Given the description of an element on the screen output the (x, y) to click on. 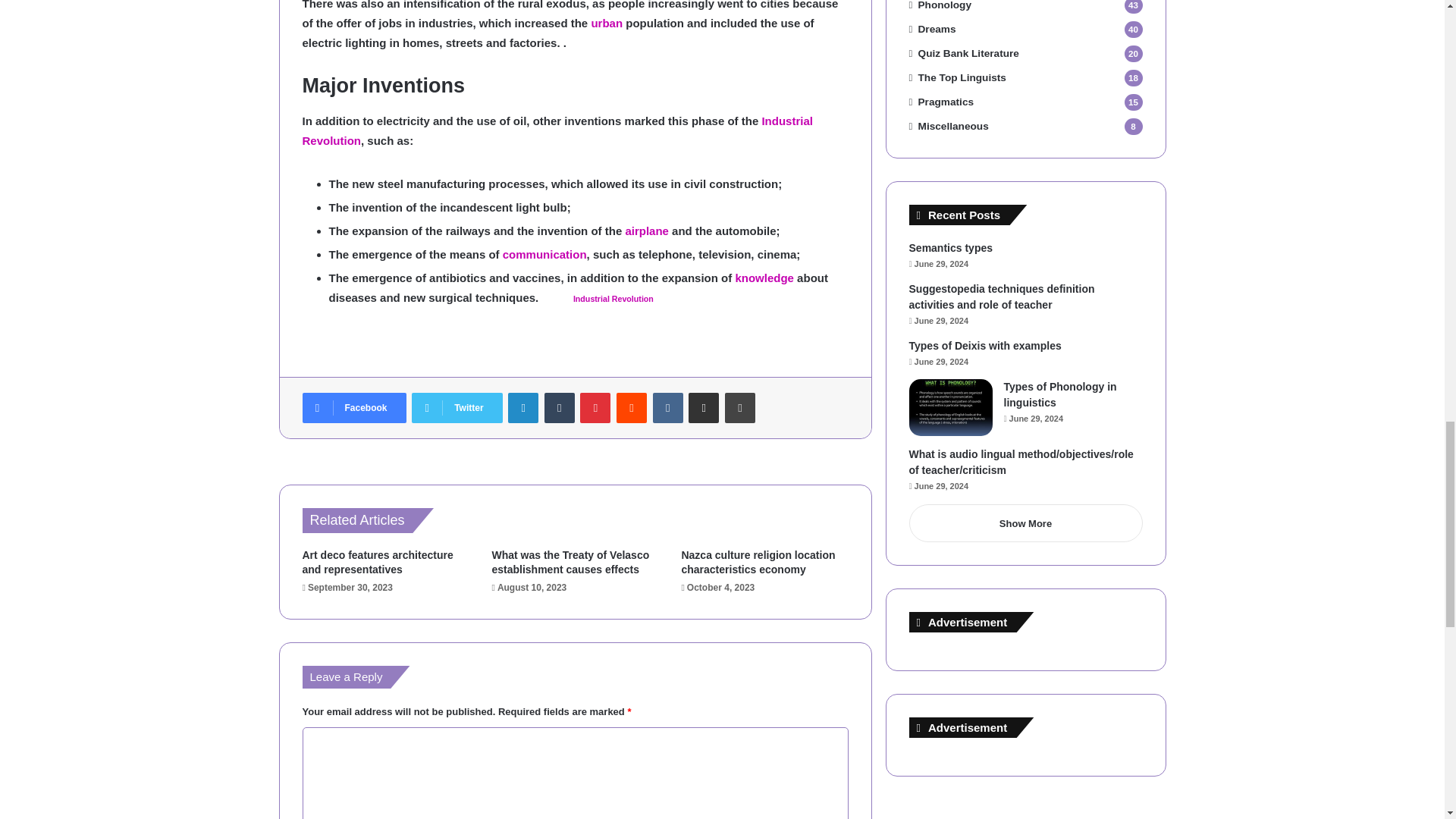
knowledge (764, 277)
LinkedIn (523, 408)
Industrial Revolution (556, 130)
Tumblr (559, 408)
Twitter (457, 408)
Industrial Revolution (613, 298)
airplane (646, 230)
VKontakte (667, 408)
Reddit (630, 408)
urban (607, 22)
urban (607, 22)
Pinterest (594, 408)
communication (544, 254)
Facebook (353, 408)
